Given the description of an element on the screen output the (x, y) to click on. 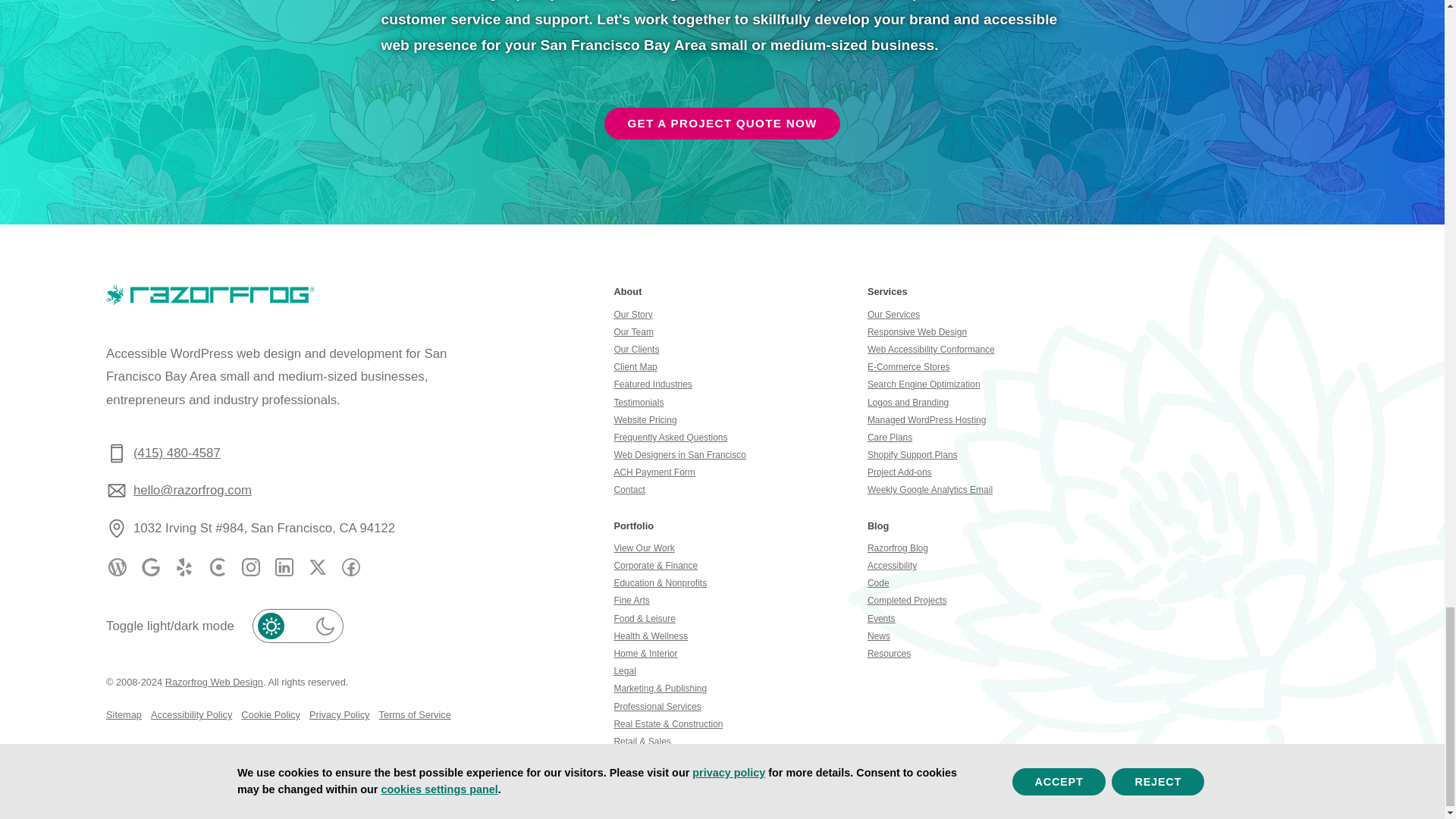
Clutch Top Ranking Firm Profile (217, 566)
Facebook Company Page (350, 566)
Instagram Business Account (250, 566)
on (297, 625)
Toggle color mode (297, 625)
Google Maps Business Listing (150, 566)
Yelp Business Listing (183, 566)
LinkedIn Company Profile (284, 566)
WordPress.org Profile (116, 566)
X Company Account (317, 566)
